Given the description of an element on the screen output the (x, y) to click on. 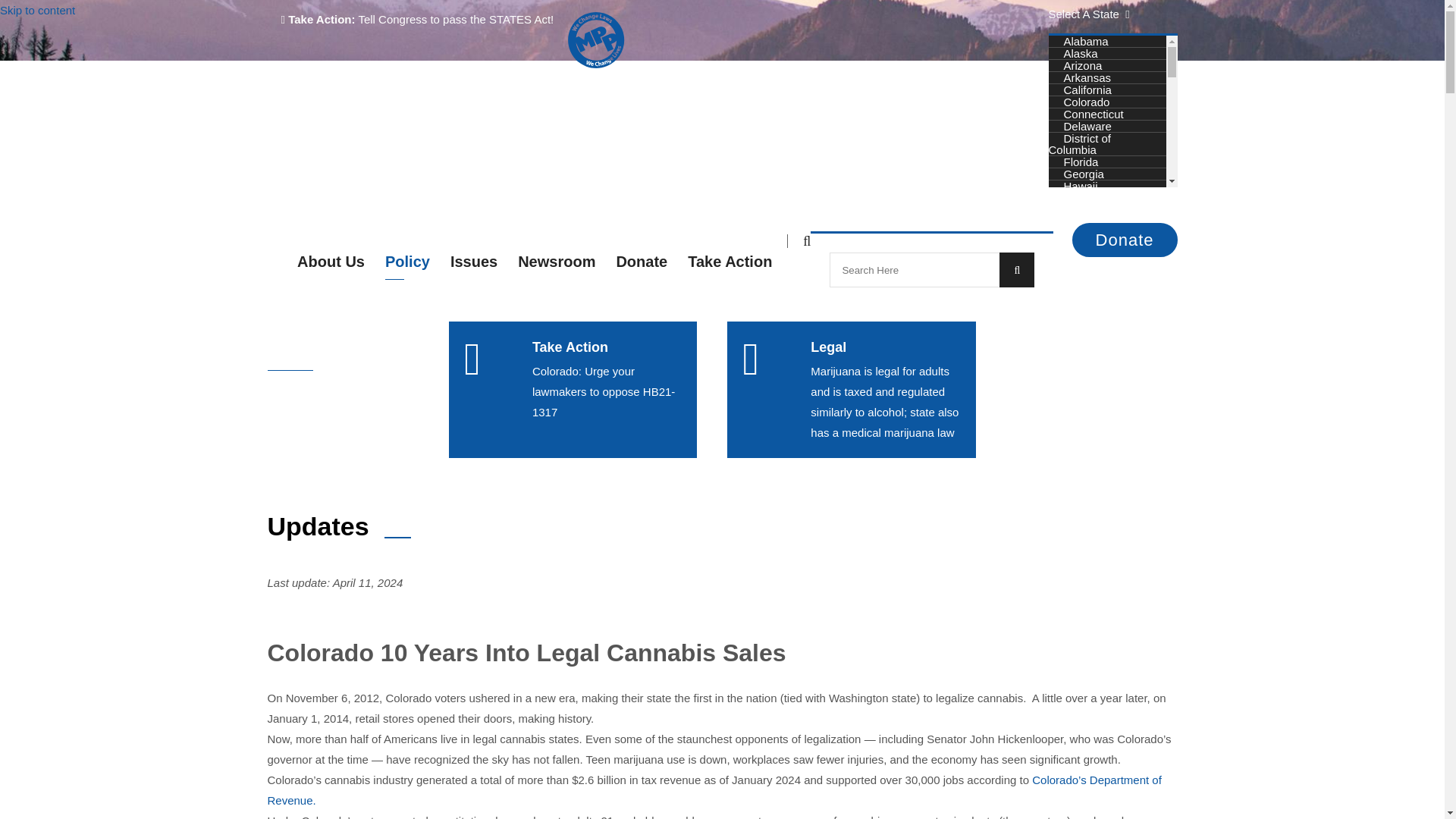
Missouri (1084, 356)
Illinois (1078, 210)
Nevada (1083, 392)
Massachusetts (1101, 307)
Kentucky (1086, 258)
Louisiana (1087, 271)
Delaware (1086, 126)
Idaho (1077, 198)
Policy (1027, 331)
Take Action: (318, 19)
Oklahoma (1088, 489)
Connecticut (1093, 113)
New Hampshire (1103, 404)
Georgia (1083, 173)
Mississippi (1091, 343)
